Given the description of an element on the screen output the (x, y) to click on. 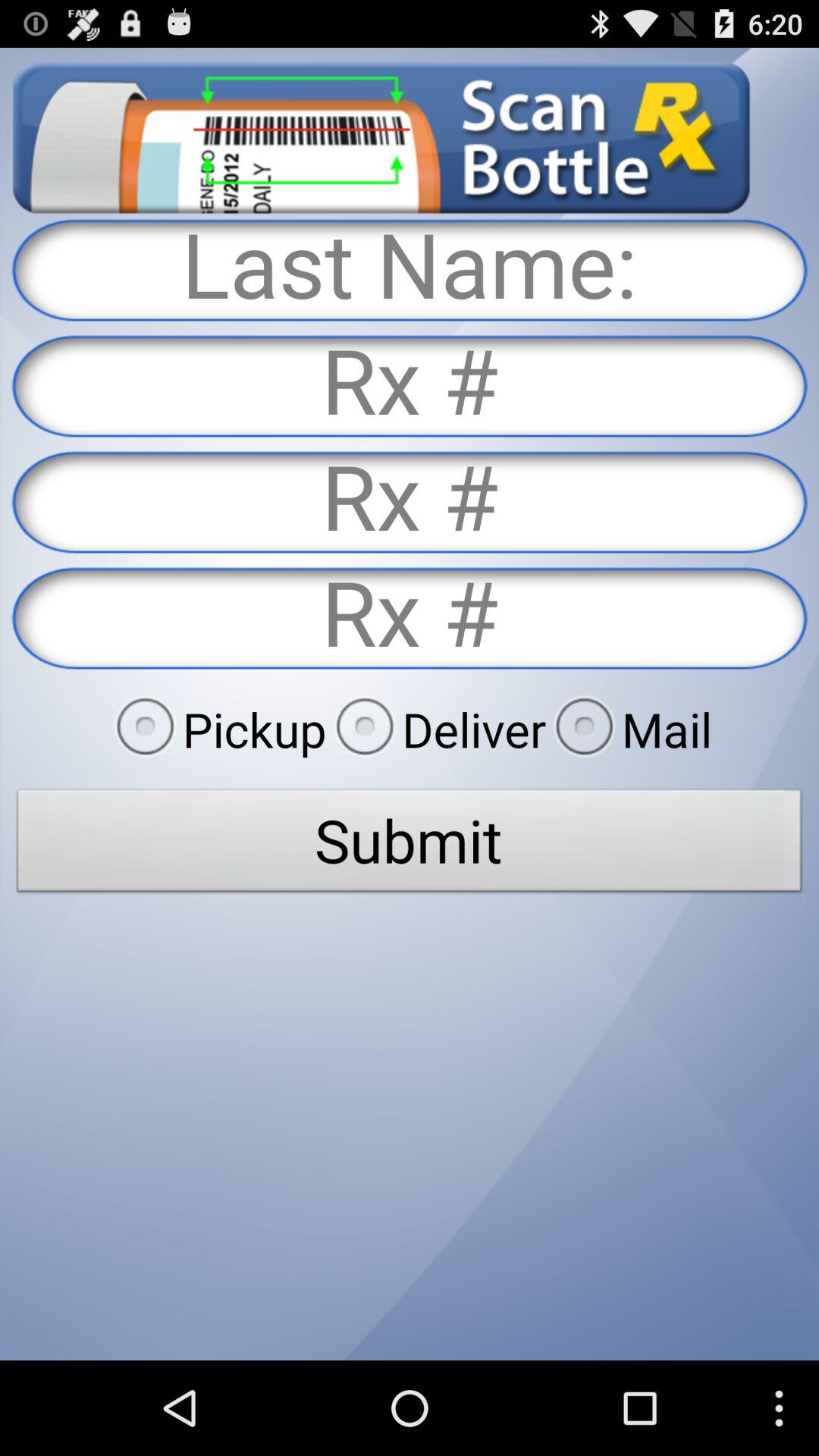
swipe to deliver (436, 728)
